Given the description of an element on the screen output the (x, y) to click on. 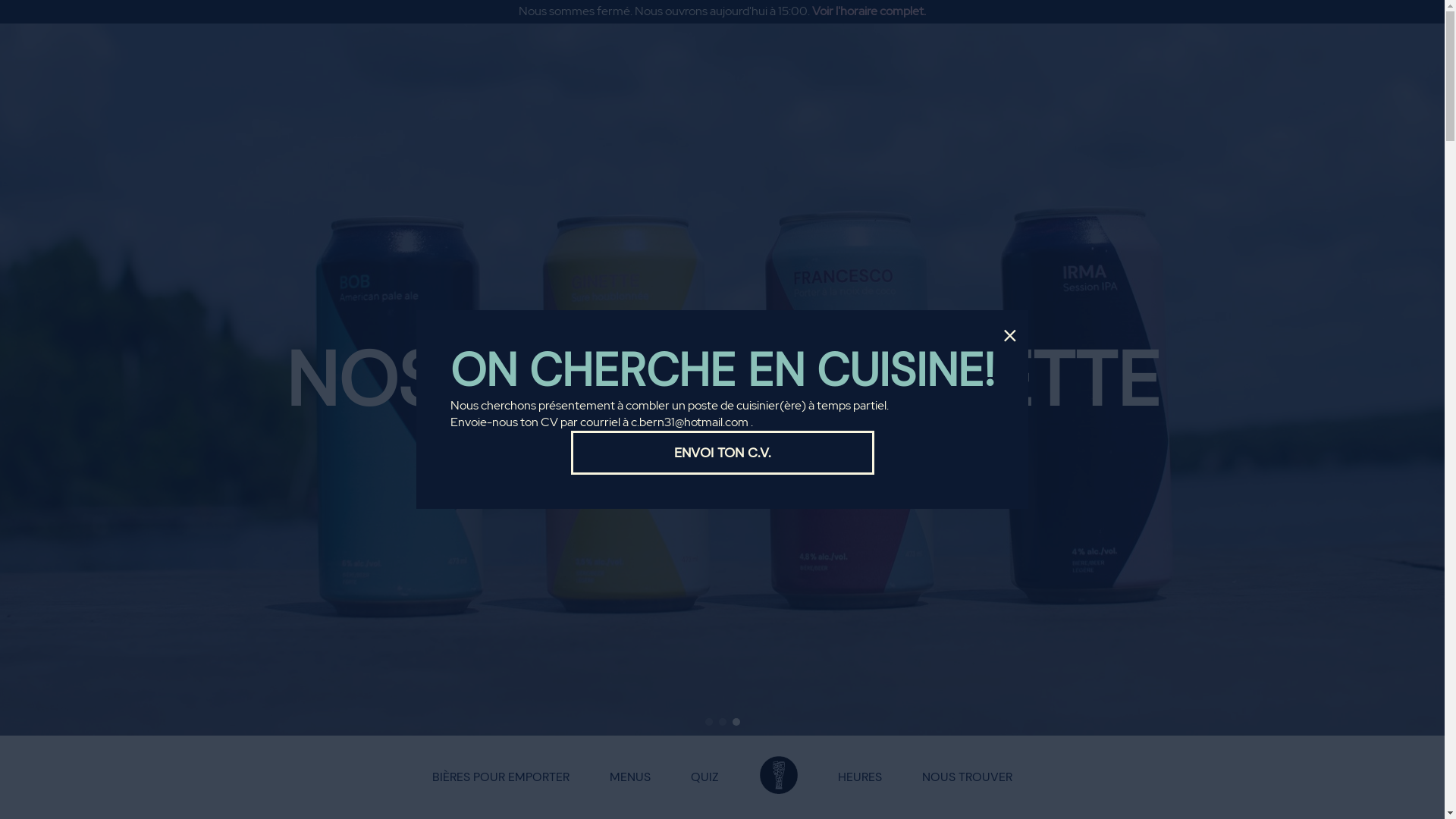
NOUS TROUVER Element type: text (967, 777)
ENVOI TON C.V. Element type: text (721, 452)
HEURES Element type: text (859, 777)
QUIZ Element type: text (705, 777)
MENUS Element type: text (629, 777)
Voir l'horaire complet. Element type: text (868, 10)
